Given the description of an element on the screen output the (x, y) to click on. 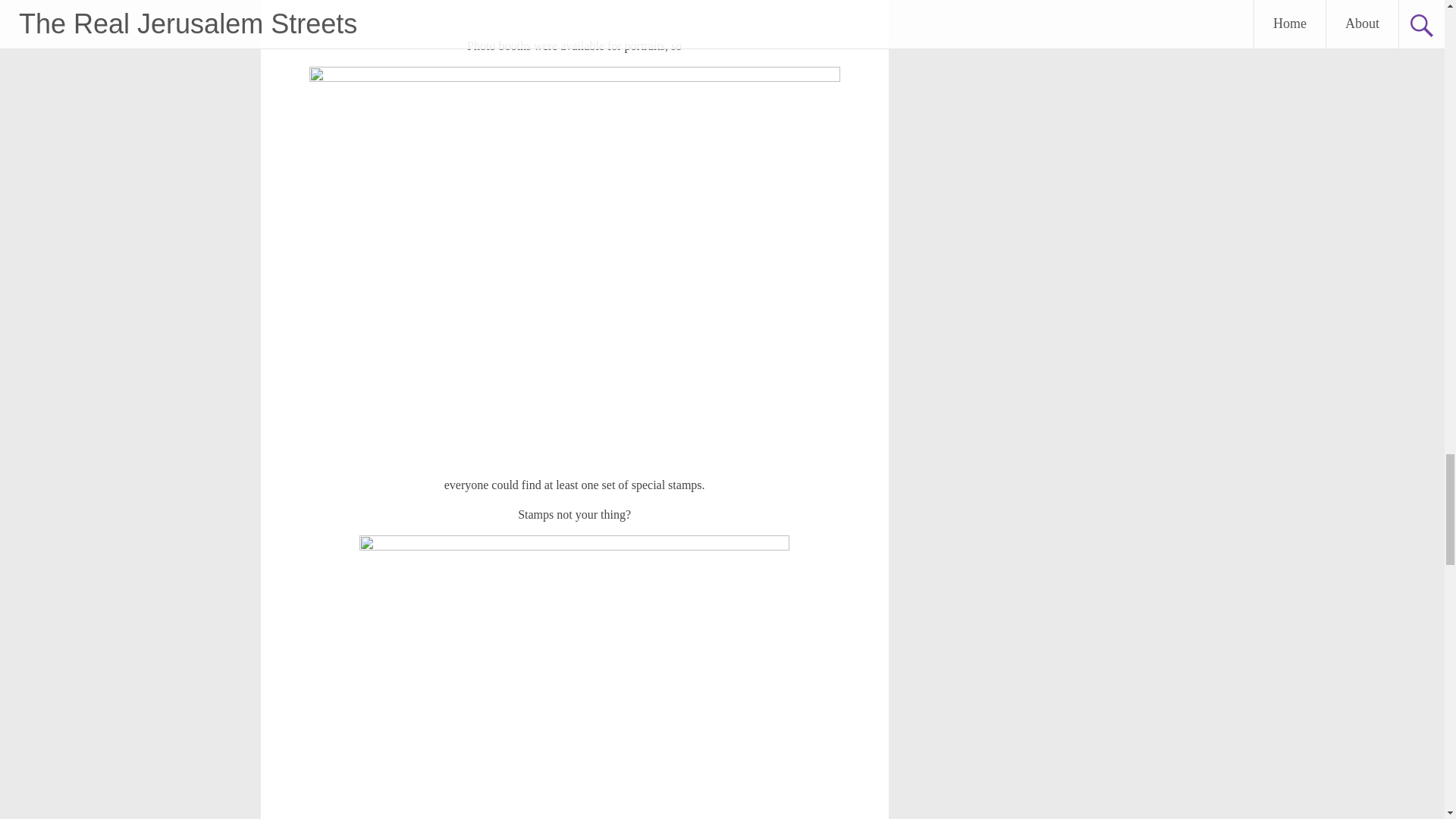
DSC03426 (574, 12)
